Given the description of an element on the screen output the (x, y) to click on. 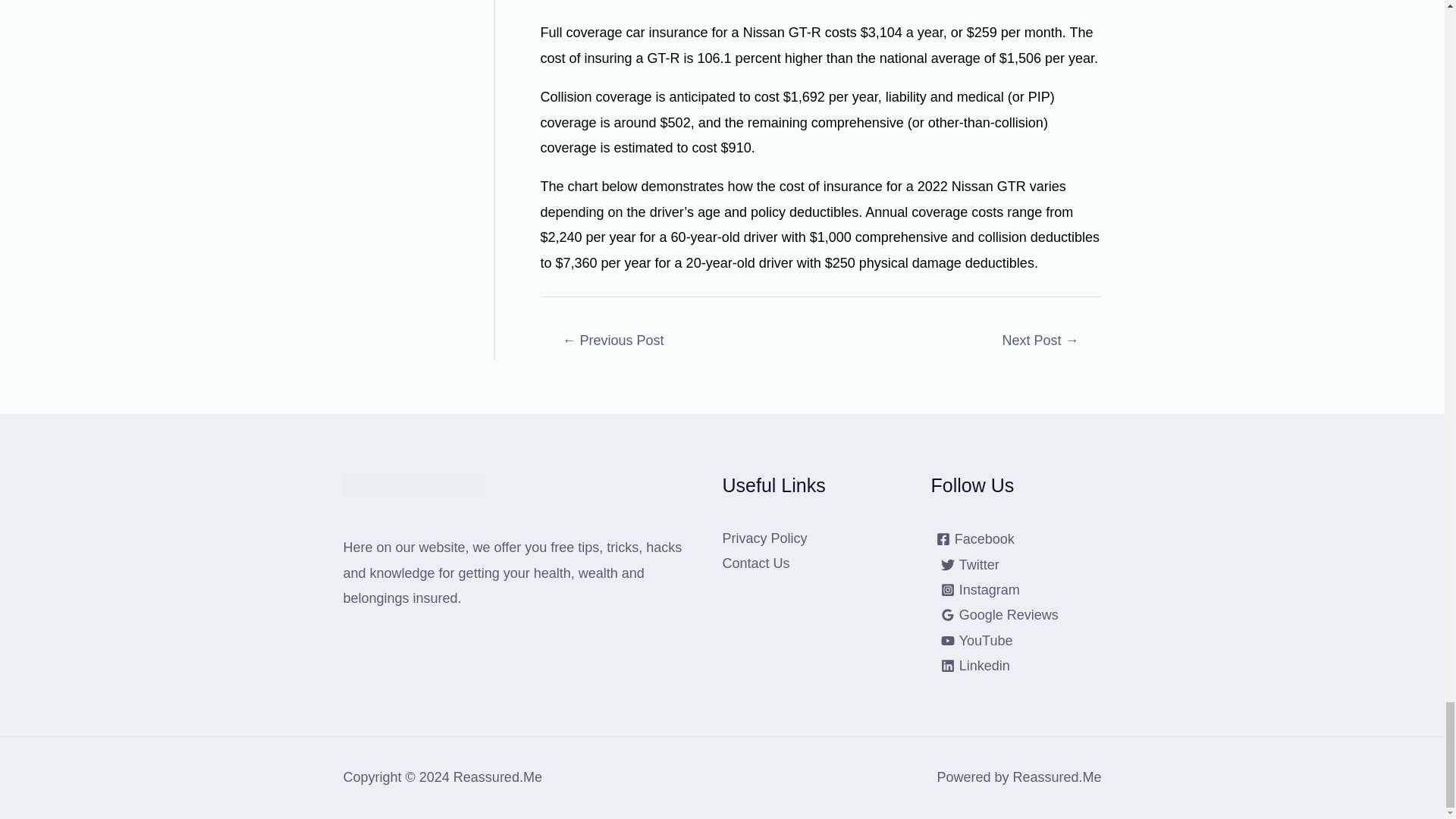
How Will Insurance Cover A Tummy Tuck? (1040, 341)
YouTube (976, 640)
Linkedin (975, 665)
Twitter (970, 564)
Facebook (975, 539)
Which Is Always A Cost When Buying Insurance? (612, 341)
Privacy Policy (764, 538)
Google Reviews (1000, 614)
Instagram (980, 590)
Contact Us (755, 563)
